Given the description of an element on the screen output the (x, y) to click on. 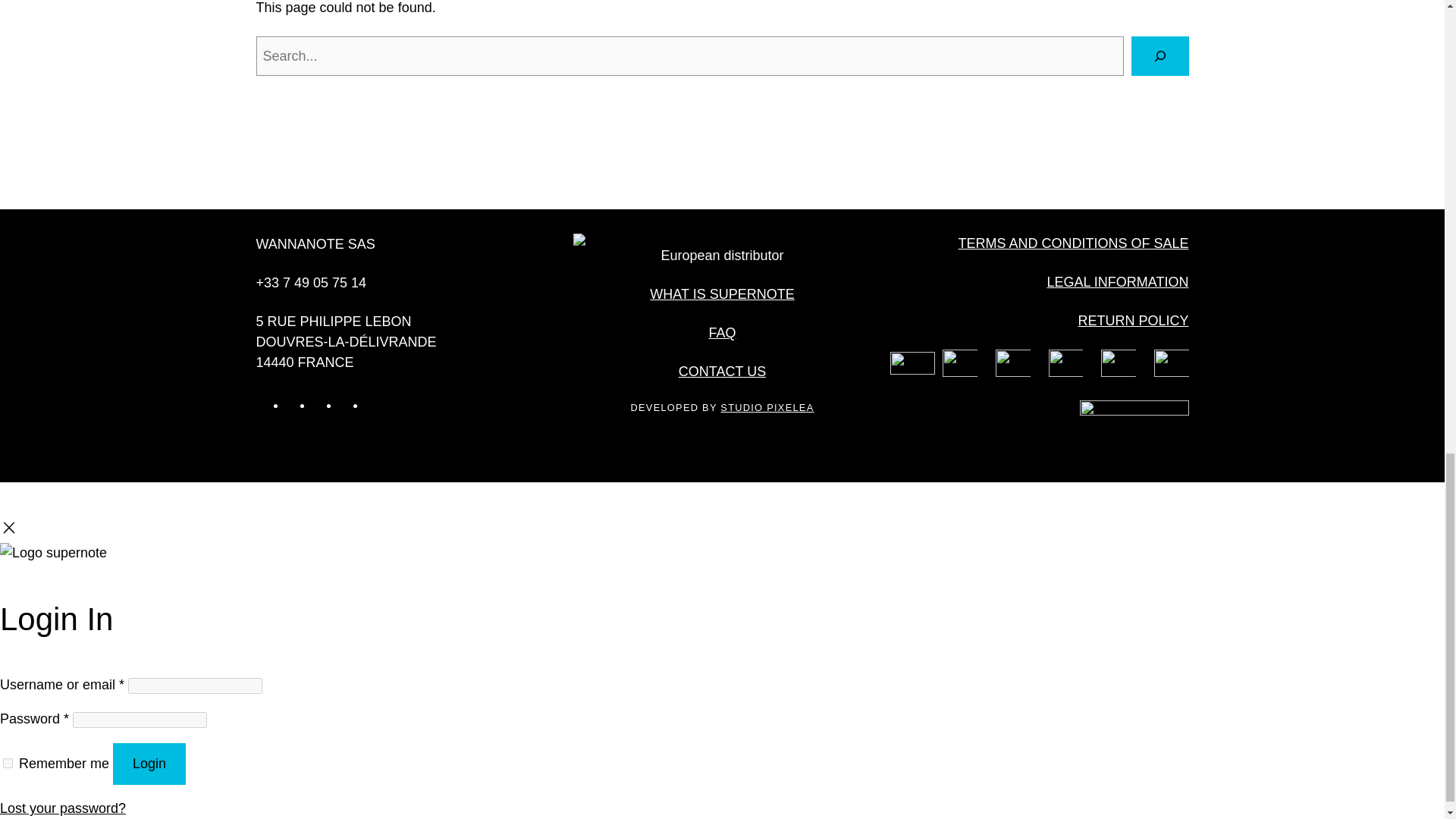
STUDIO PIXELEA (766, 407)
Facebook (321, 404)
forever (7, 763)
WHAT IS SUPERNOTE (721, 294)
Instagram (295, 404)
RETURN POLICY (1132, 320)
Reddit (374, 404)
LEGAL INFORMATION (1117, 281)
Lost your password? (62, 807)
Login (149, 763)
